Given the description of an element on the screen output the (x, y) to click on. 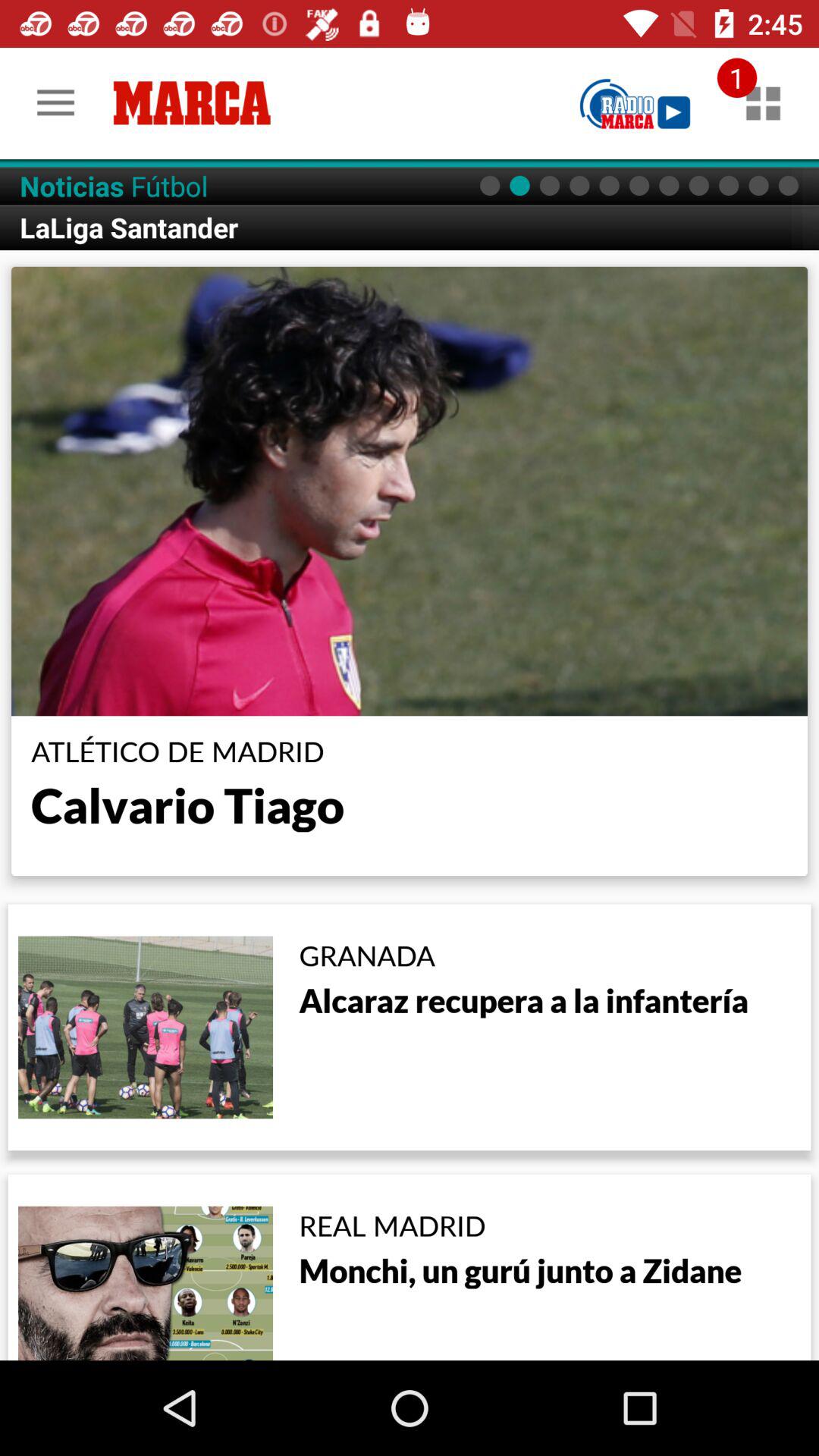
listen to radio marca (635, 103)
